Given the description of an element on the screen output the (x, y) to click on. 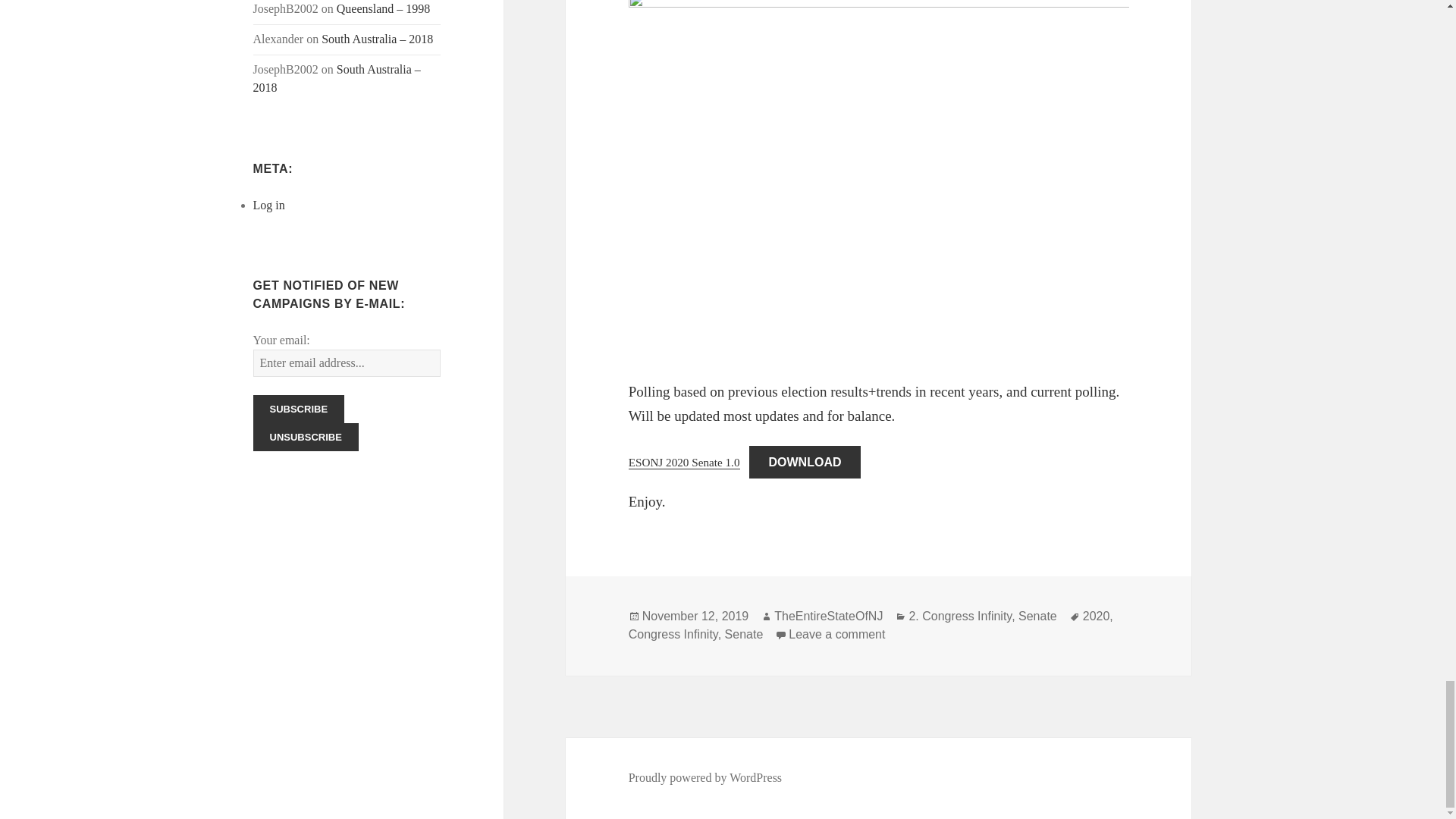
Subscribe (299, 408)
Unsubscribe (305, 437)
Enter email address... (347, 362)
